Given the description of an element on the screen output the (x, y) to click on. 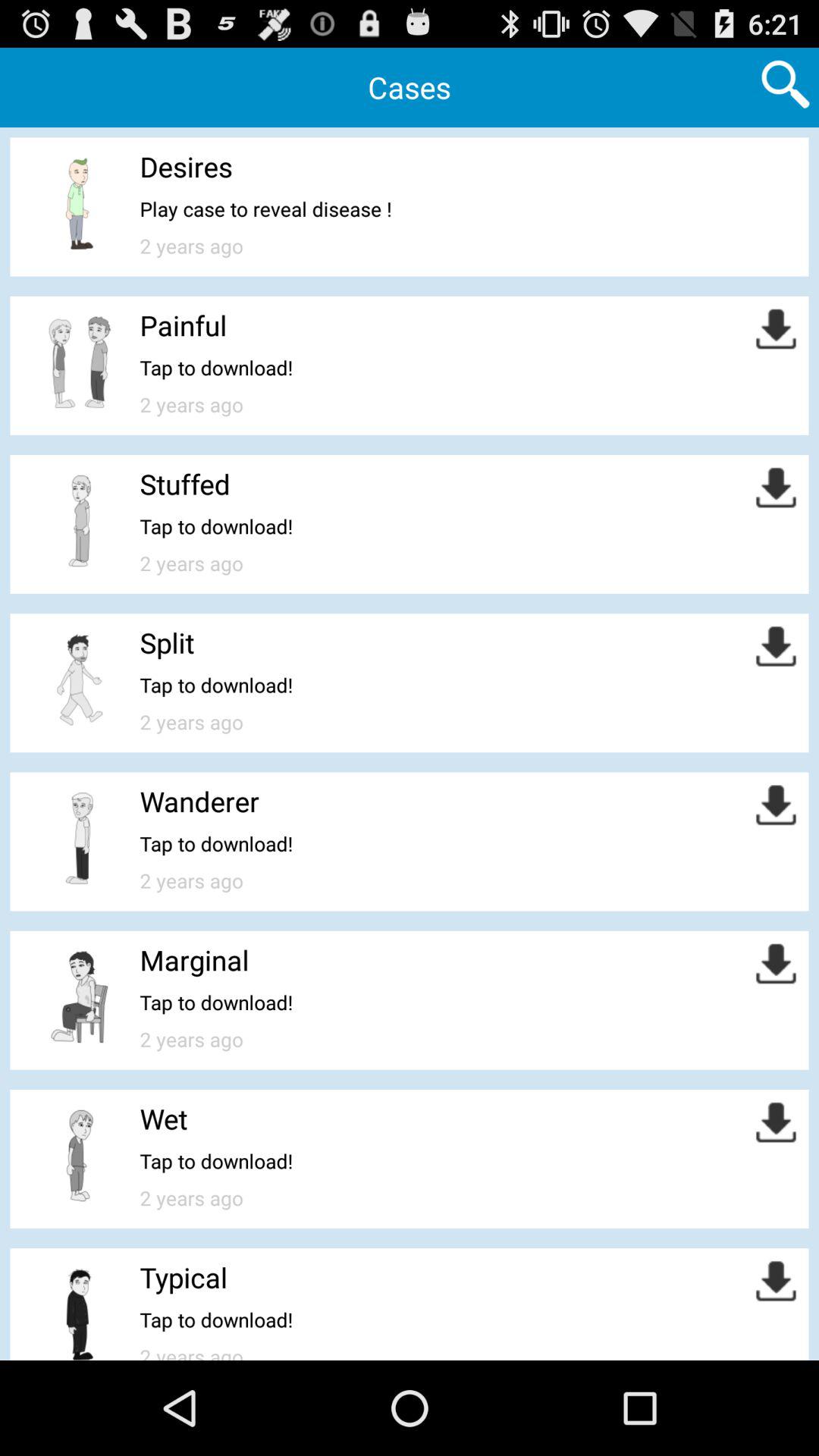
choose wet icon (163, 1118)
